Given the description of an element on the screen output the (x, y) to click on. 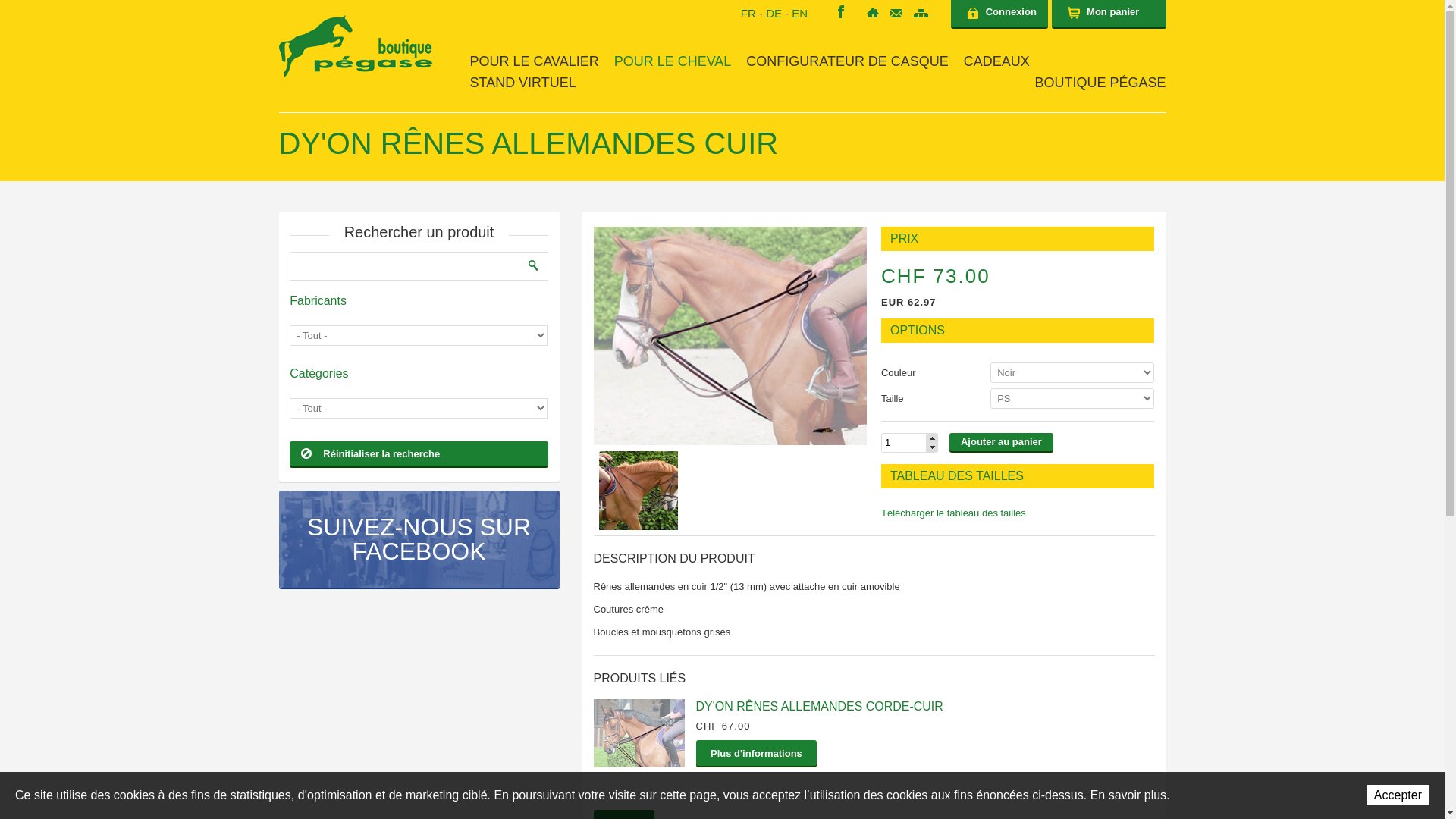
Mon panier Element type: text (1108, 13)
- Element type: text (932, 447)
Plus d'informations Element type: text (756, 752)
DE Element type: text (773, 12)
EN Element type: text (799, 12)
SUIVEZ-NOUS SUR FACEBOOK Element type: text (419, 538)
Sitemap Element type: text (920, 13)
Connexion Element type: text (999, 13)
+ Element type: text (932, 437)
POUR LE CAVALIER Element type: text (534, 61)
POUR LE CHEVAL Element type: text (672, 61)
CONFIGURATEUR DE CASQUE Element type: text (846, 61)
Accepter Element type: text (1397, 794)
CADEAUX Element type: text (996, 61)
FR Element type: text (748, 12)
Rechercher Element type: text (533, 265)
Contact Element type: text (896, 13)
Accueil Element type: text (872, 12)
Ajouter au panier Element type: text (1001, 442)
Facebook Element type: text (840, 11)
STAND VIRTUEL Element type: text (523, 82)
